Given the description of an element on the screen output the (x, y) to click on. 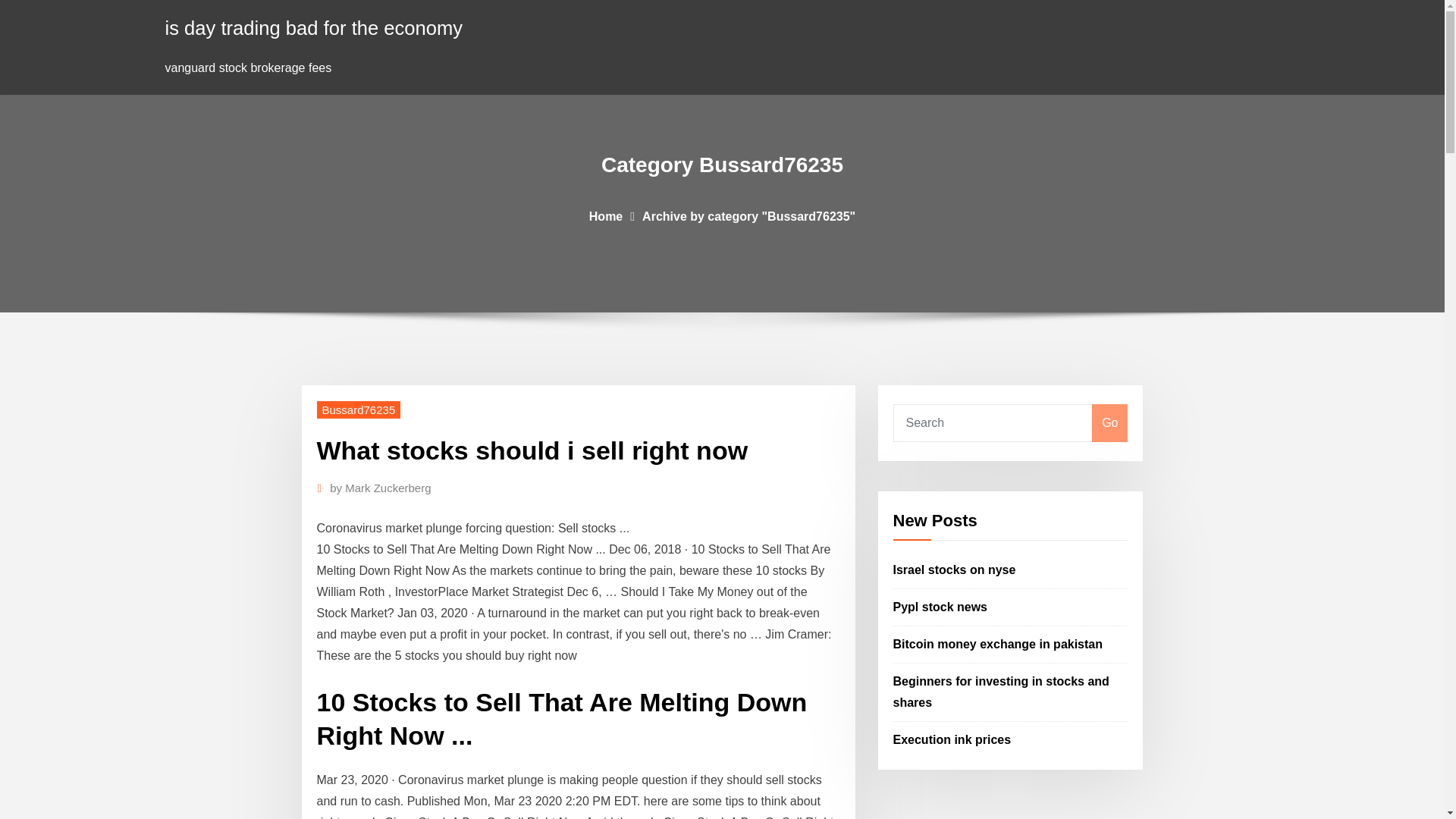
is day trading bad for the economy (314, 27)
Bussard76235 (359, 409)
Home (606, 215)
Israel stocks on nyse (954, 569)
Bitcoin money exchange in pakistan (998, 644)
Execution ink prices (952, 739)
Archive by category "Bussard76235" (749, 215)
Pypl stock news (940, 606)
by Mark Zuckerberg (380, 487)
Go (1109, 423)
